Given the description of an element on the screen output the (x, y) to click on. 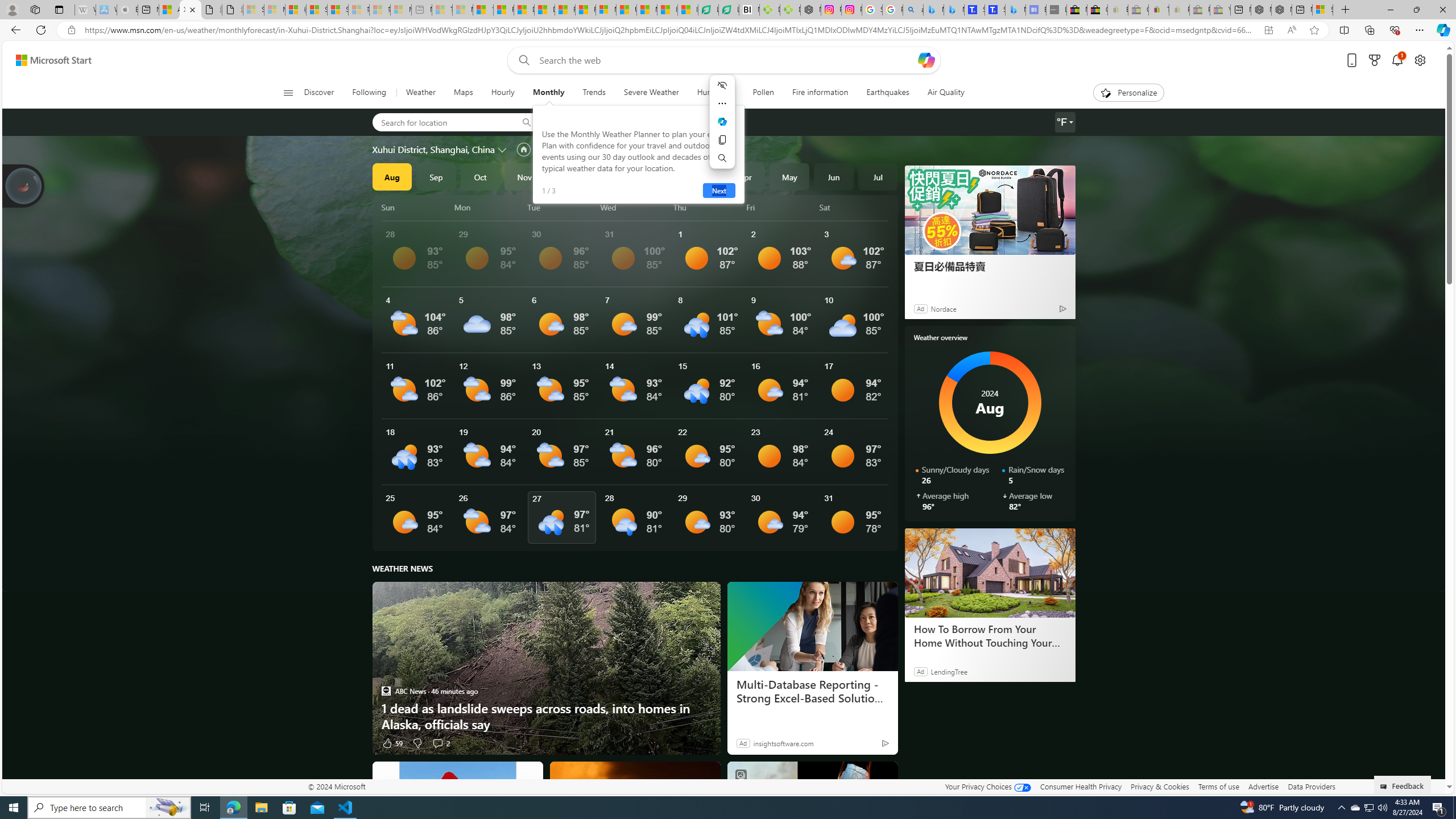
Oct (480, 176)
Mar (700, 176)
Food and Drink - MSN (503, 9)
Class: feedback_link_icon-DS-EntryPoint1-1 (1384, 786)
Aug (391, 176)
